Given the description of an element on the screen output the (x, y) to click on. 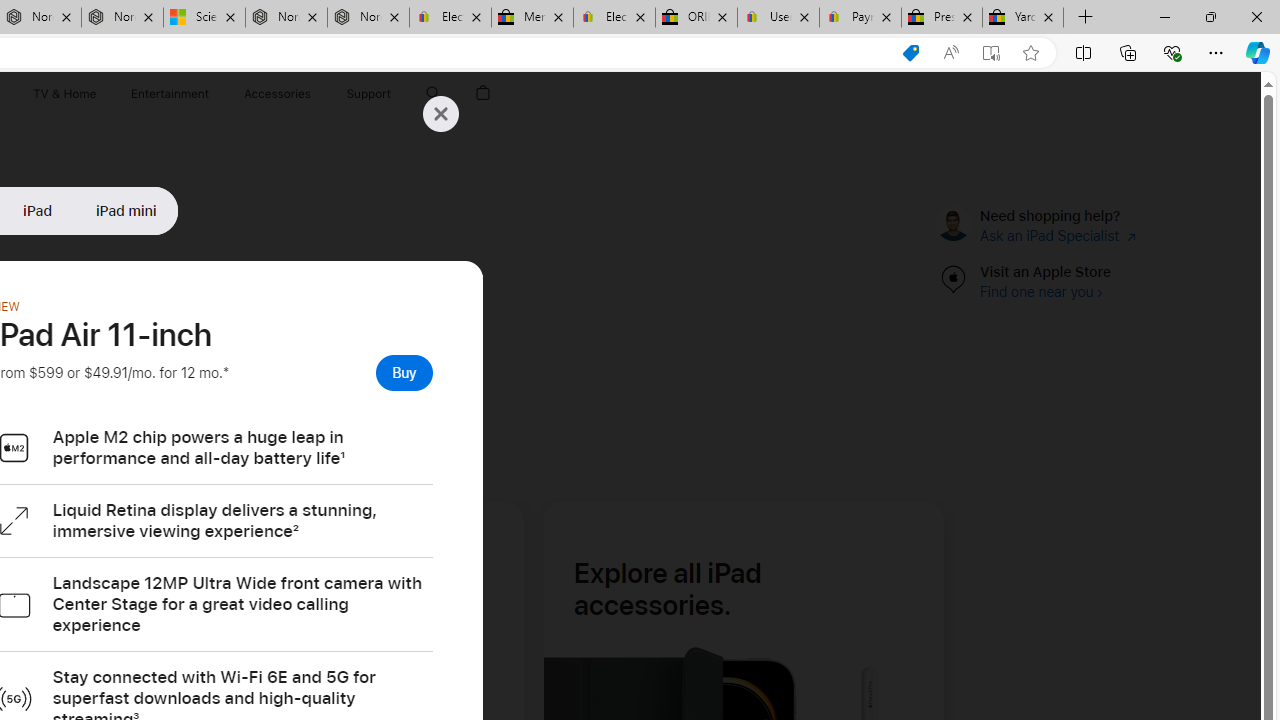
Press Room - eBay Inc. (941, 17)
iPad (37, 210)
User Privacy Notice | eBay (778, 17)
iPad mini (125, 210)
Yard, Garden & Outdoor Living (1023, 17)
